Given the description of an element on the screen output the (x, y) to click on. 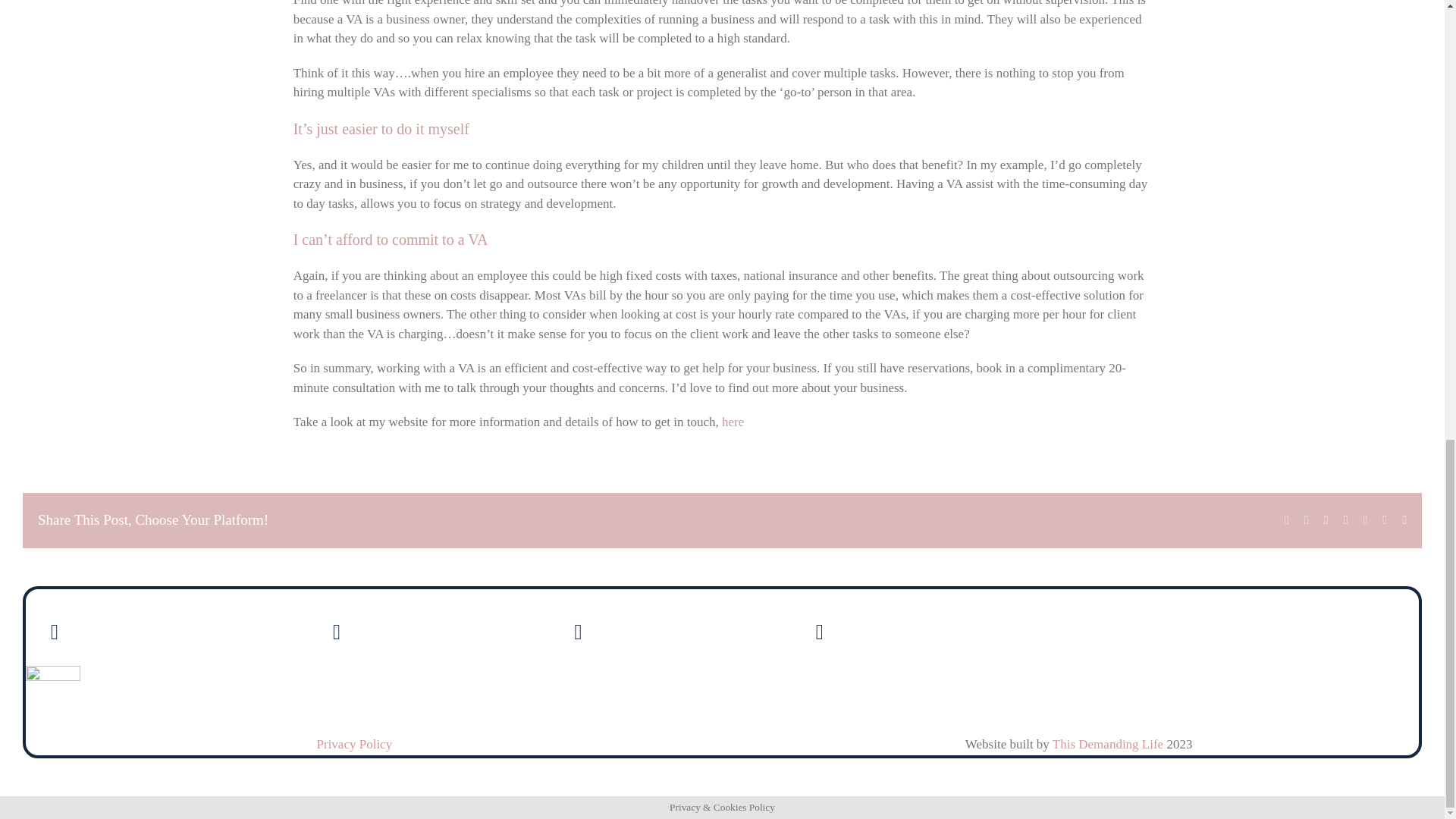
This Demanding Life (1107, 744)
here (733, 421)
Privacy Policy (355, 744)
